Given the description of an element on the screen output the (x, y) to click on. 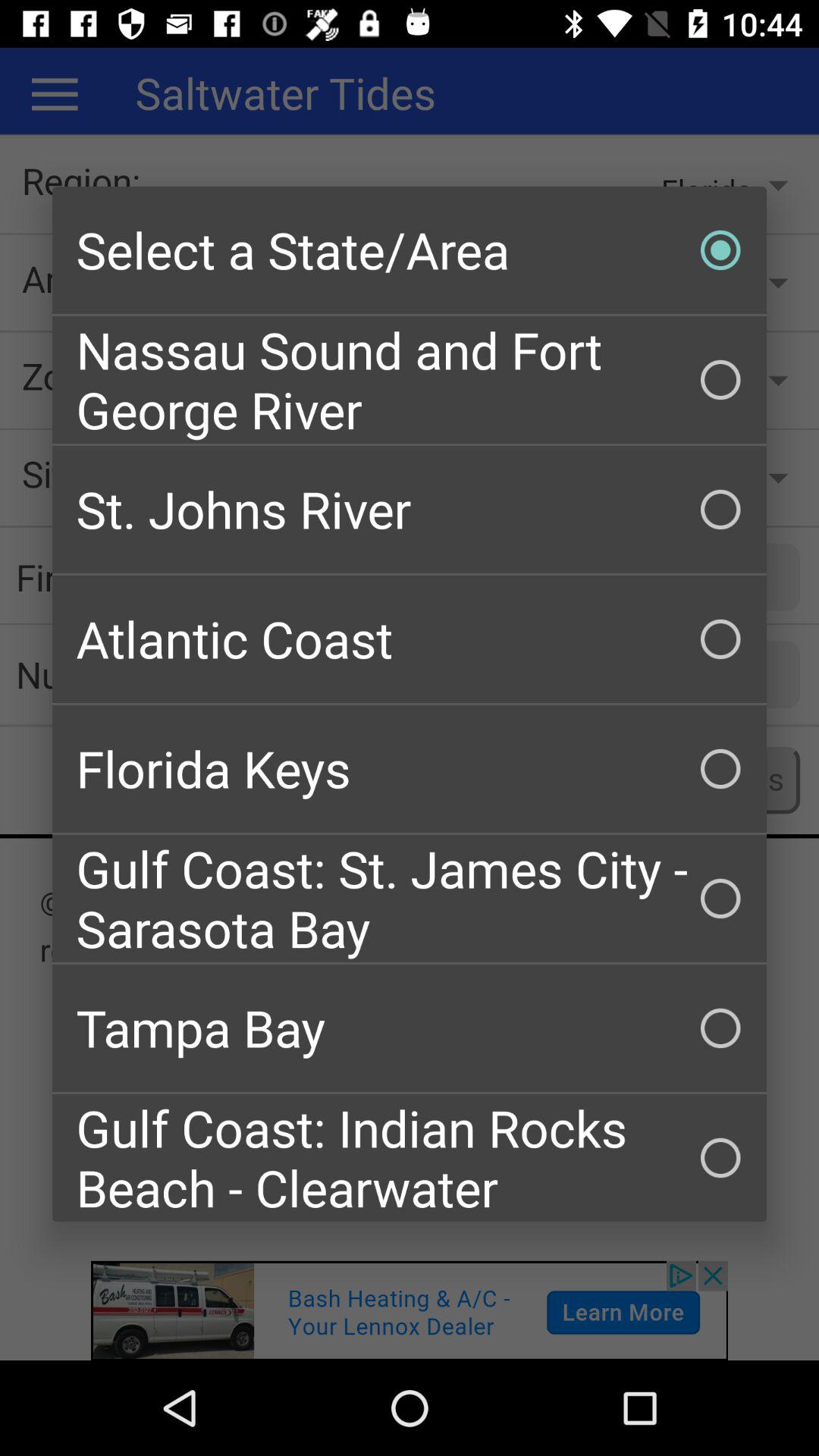
click icon above the florida keys icon (409, 638)
